Given the description of an element on the screen output the (x, y) to click on. 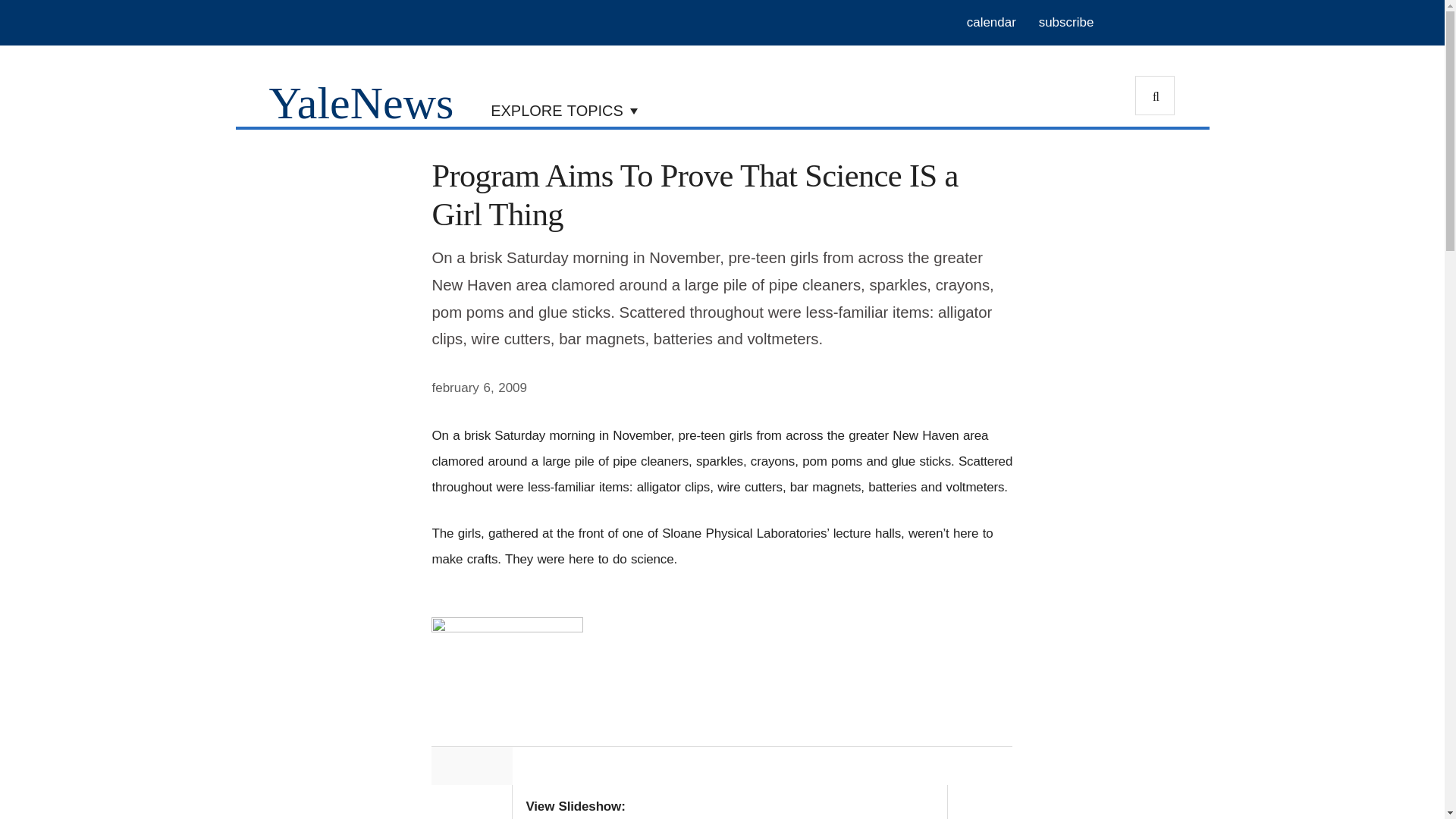
Skip to main content (586, 4)
Apply (1154, 95)
calendar (991, 22)
EXPLORE TOPICS (563, 109)
YaleNews (359, 102)
subscribe (1066, 22)
Home (359, 102)
